Given the description of an element on the screen output the (x, y) to click on. 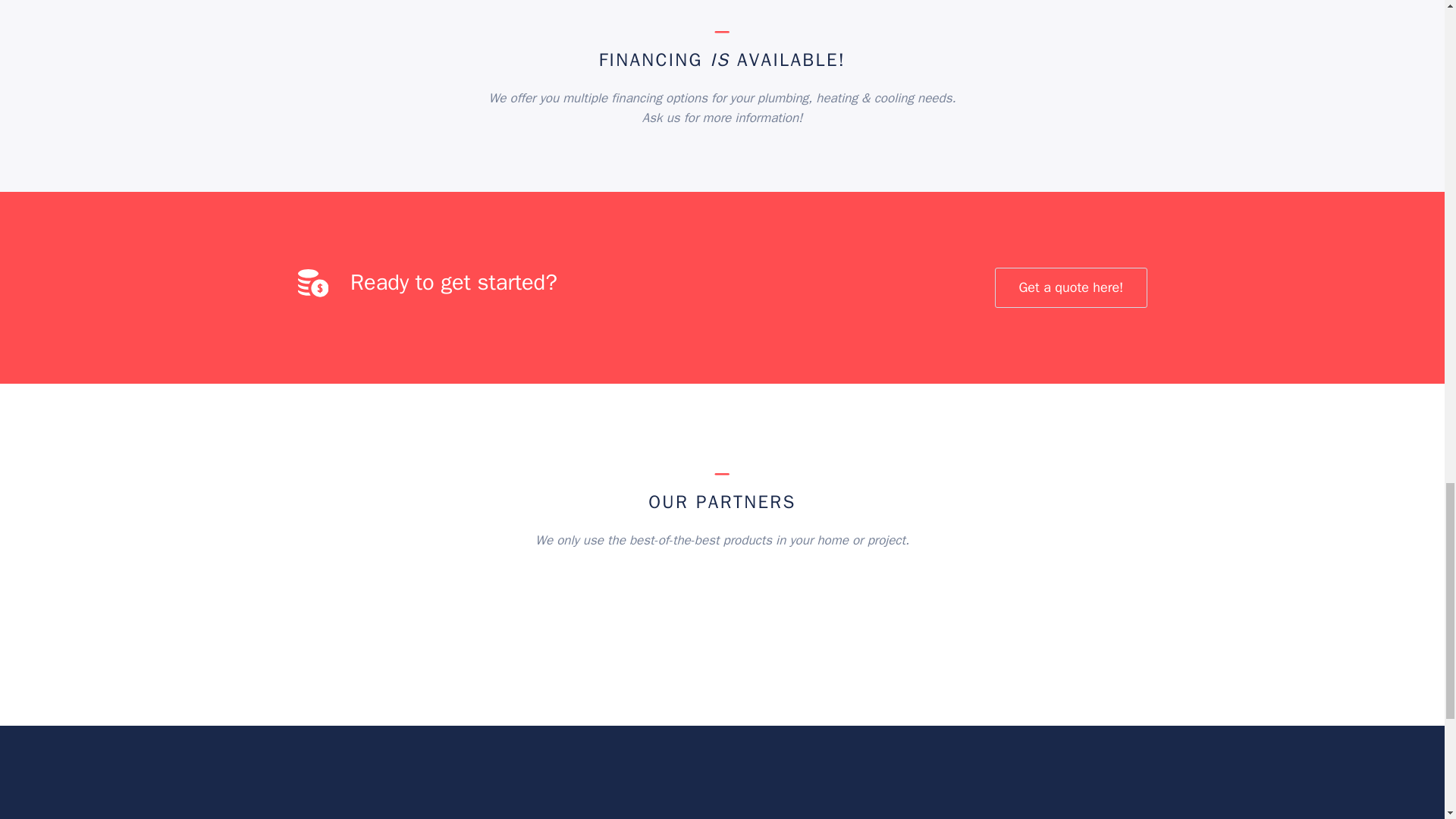
Get a quote here! (1070, 287)
